Given the description of an element on the screen output the (x, y) to click on. 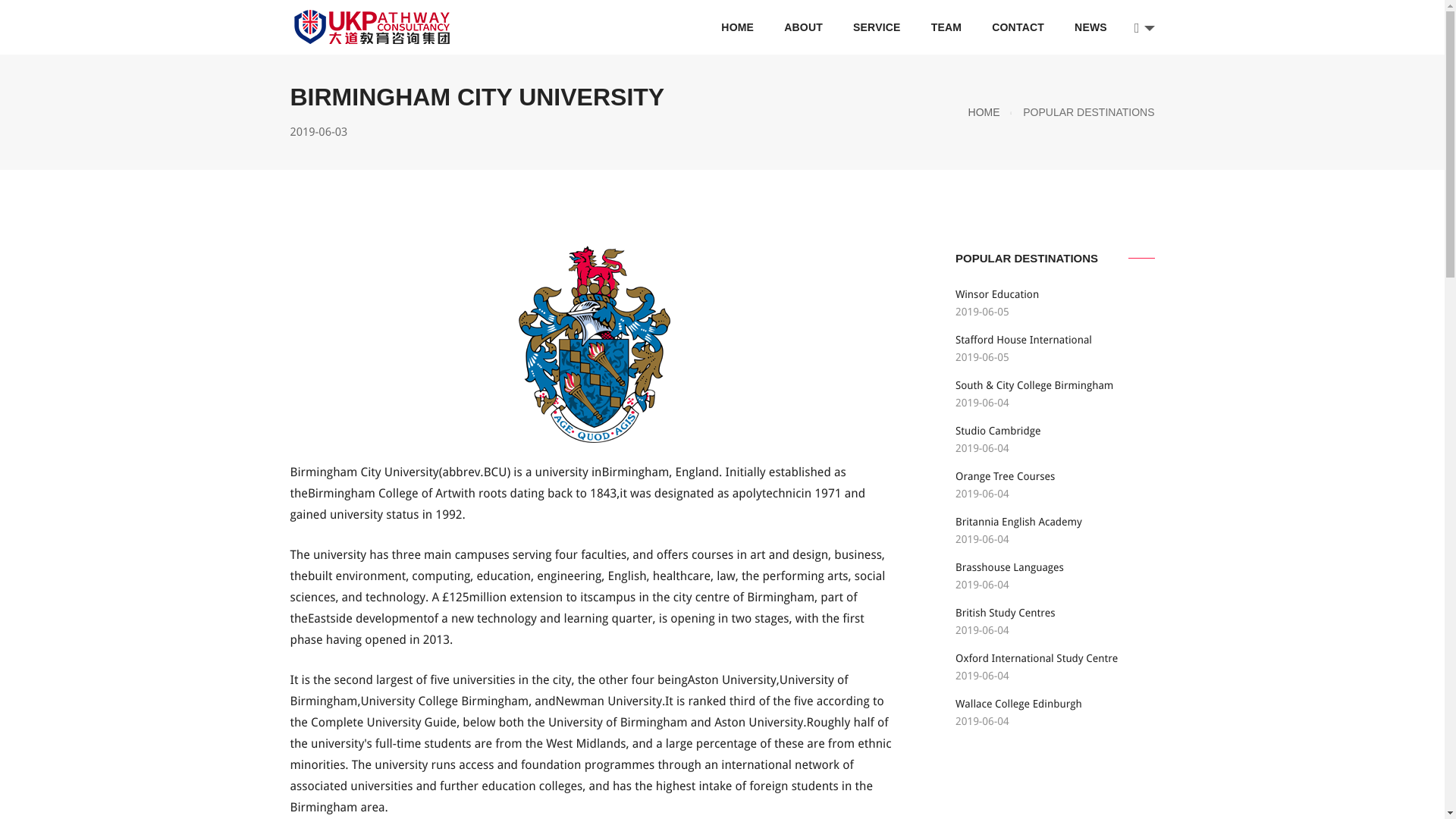
Stafford House International (1023, 339)
CONTACT (1017, 27)
Orange Tree Courses (1004, 476)
Studio Cambridge (998, 430)
Brasshouse Languages (1009, 567)
UKPathway (370, 27)
Wallace College Edinburgh (1018, 703)
POPULAR DESTINATIONS (1088, 111)
Britannia English Academy (1018, 521)
British Study Centres (1005, 612)
